Given the description of an element on the screen output the (x, y) to click on. 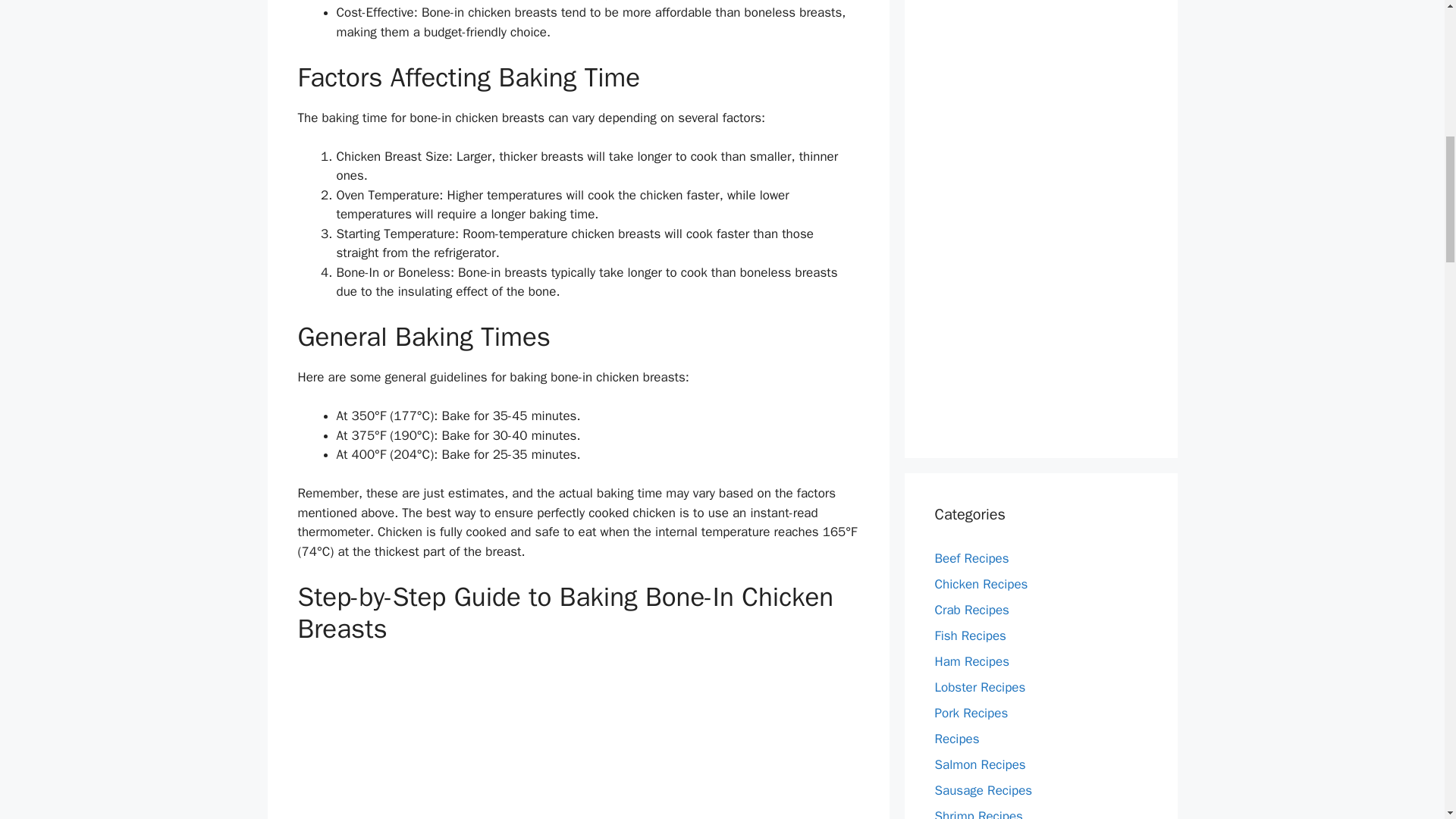
Pork Recipes (970, 713)
Crab Recipes (971, 609)
Lobster Recipes (979, 687)
Recipes (956, 738)
Ham Recipes (971, 661)
Shrimp Recipes (978, 813)
Advertisement (578, 739)
Fish Recipes (970, 635)
Chicken Recipes (980, 584)
Salmon Recipes (979, 764)
